Given the description of an element on the screen output the (x, y) to click on. 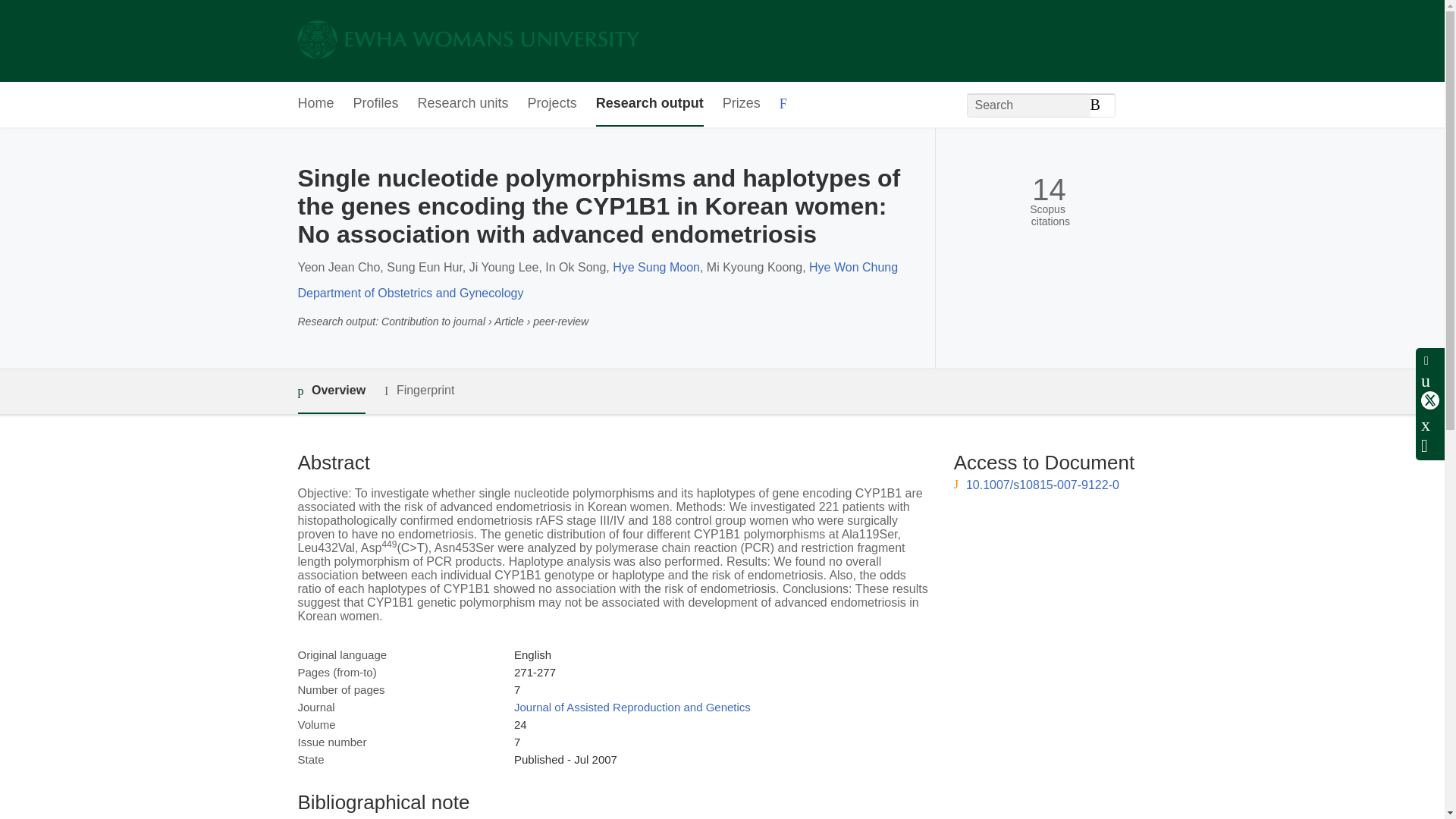
Department of Obstetrics and Gynecology (409, 292)
Journal of Assisted Reproduction and Genetics (632, 707)
Profiles (375, 103)
Overview (331, 391)
Projects (551, 103)
Fingerprint (419, 390)
Hye Won Chung (853, 267)
Research output (649, 103)
Ewha Womans University Home (468, 40)
Research units (462, 103)
Hye Sung Moon (656, 267)
